Given the description of an element on the screen output the (x, y) to click on. 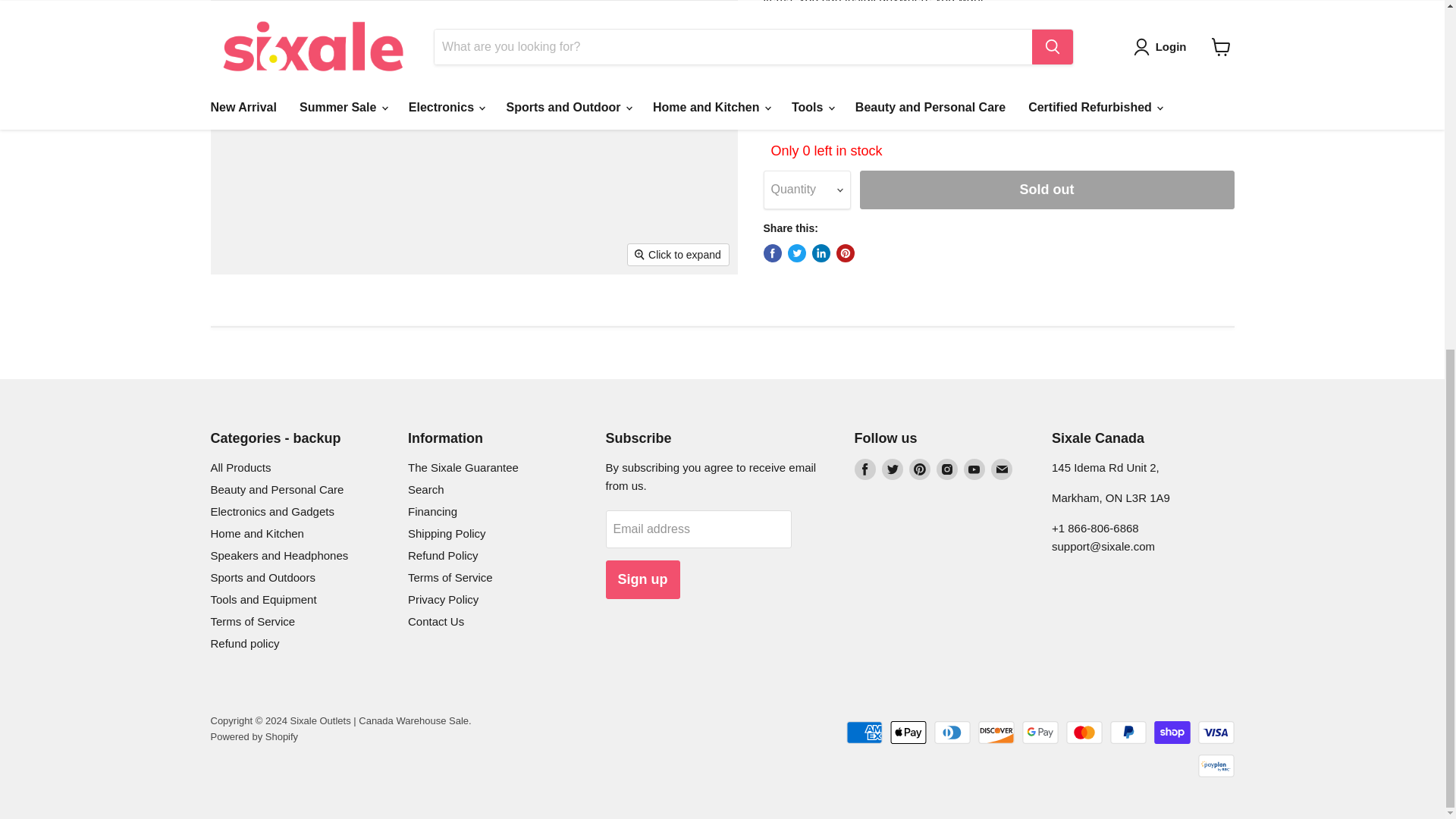
Email (1000, 468)
Facebook (864, 468)
Instagram (946, 468)
Pinterest (919, 468)
Twitter (891, 468)
Youtube (973, 468)
